Given the description of an element on the screen output the (x, y) to click on. 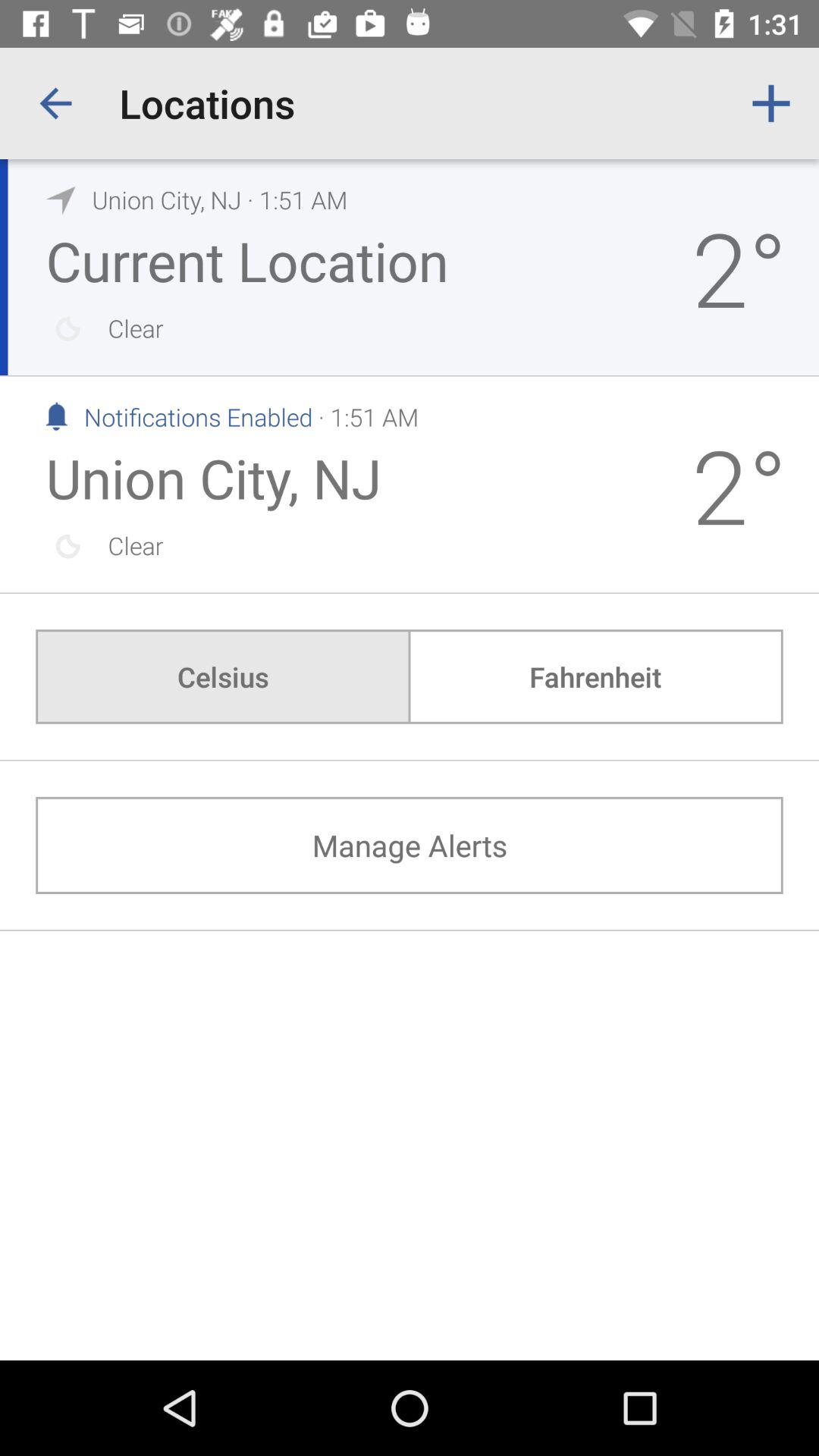
swipe to celsius icon (223, 676)
